Given the description of an element on the screen output the (x, y) to click on. 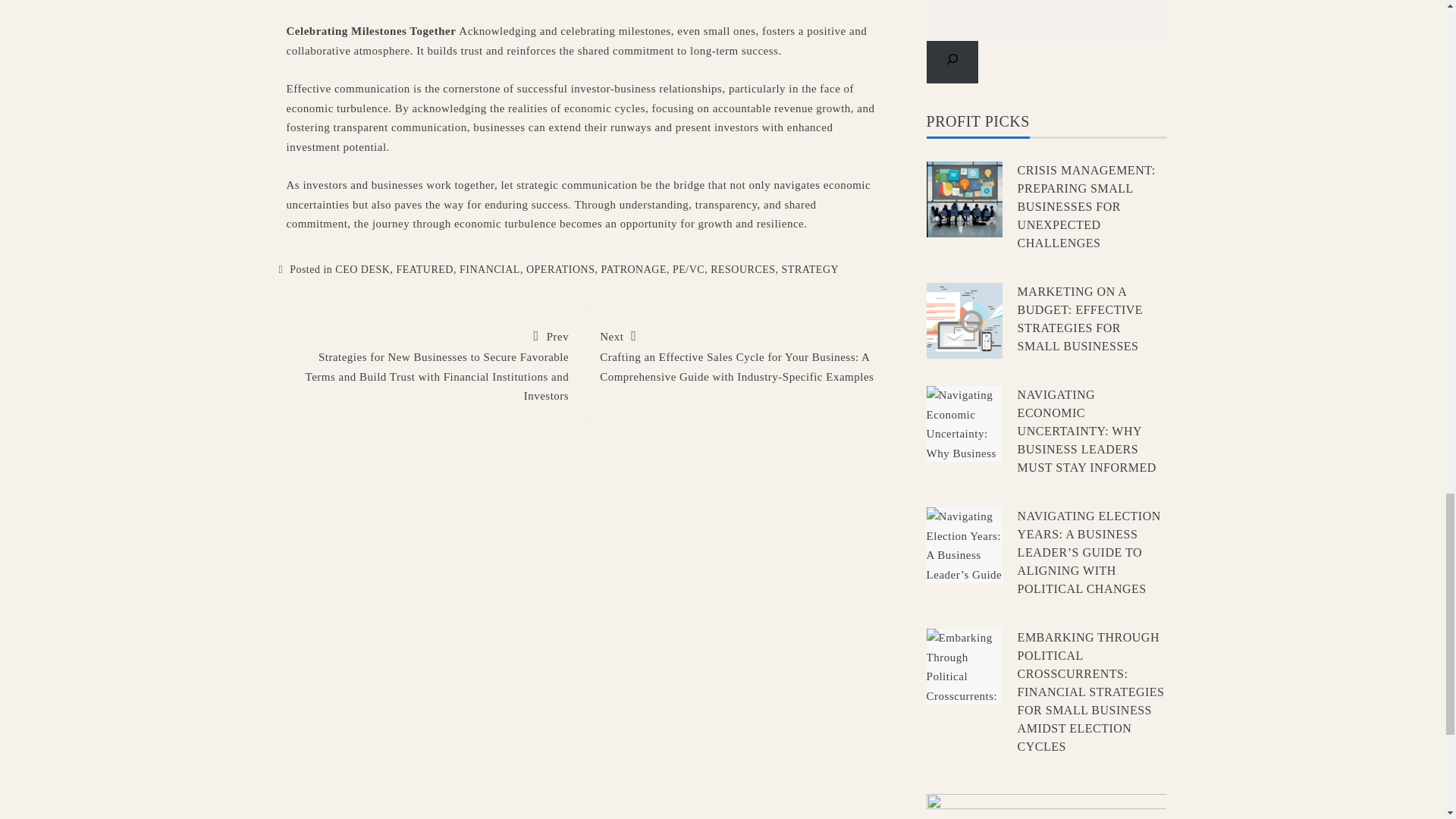
FINANCIAL (489, 269)
FEATURED (424, 269)
STRATEGY (810, 269)
RESOURCES (742, 269)
PATRONAGE (633, 269)
OPERATIONS (560, 269)
CEO DESK (362, 269)
